Given the description of an element on the screen output the (x, y) to click on. 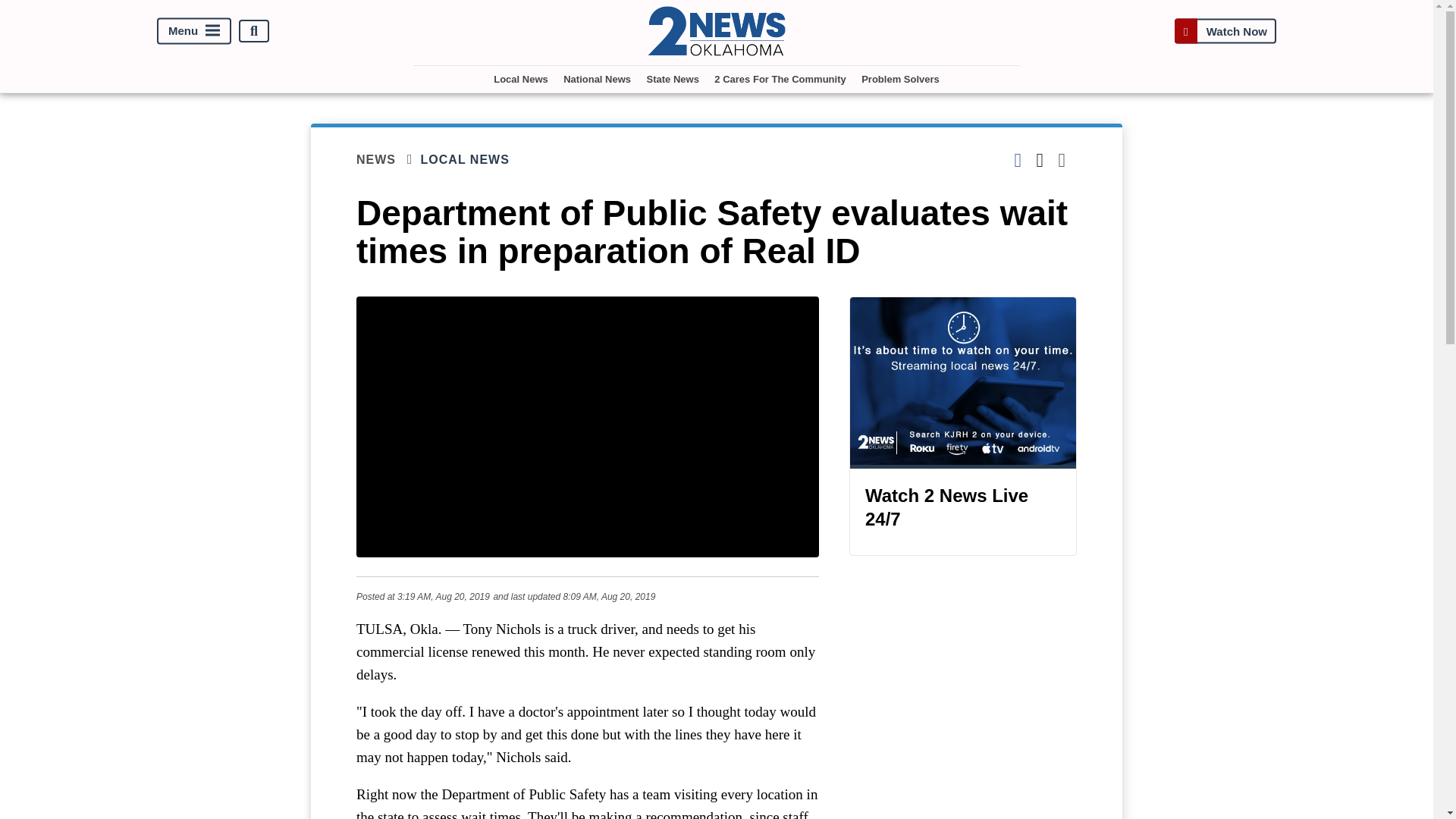
Menu (194, 31)
Watch Now (1224, 31)
